Given the description of an element on the screen output the (x, y) to click on. 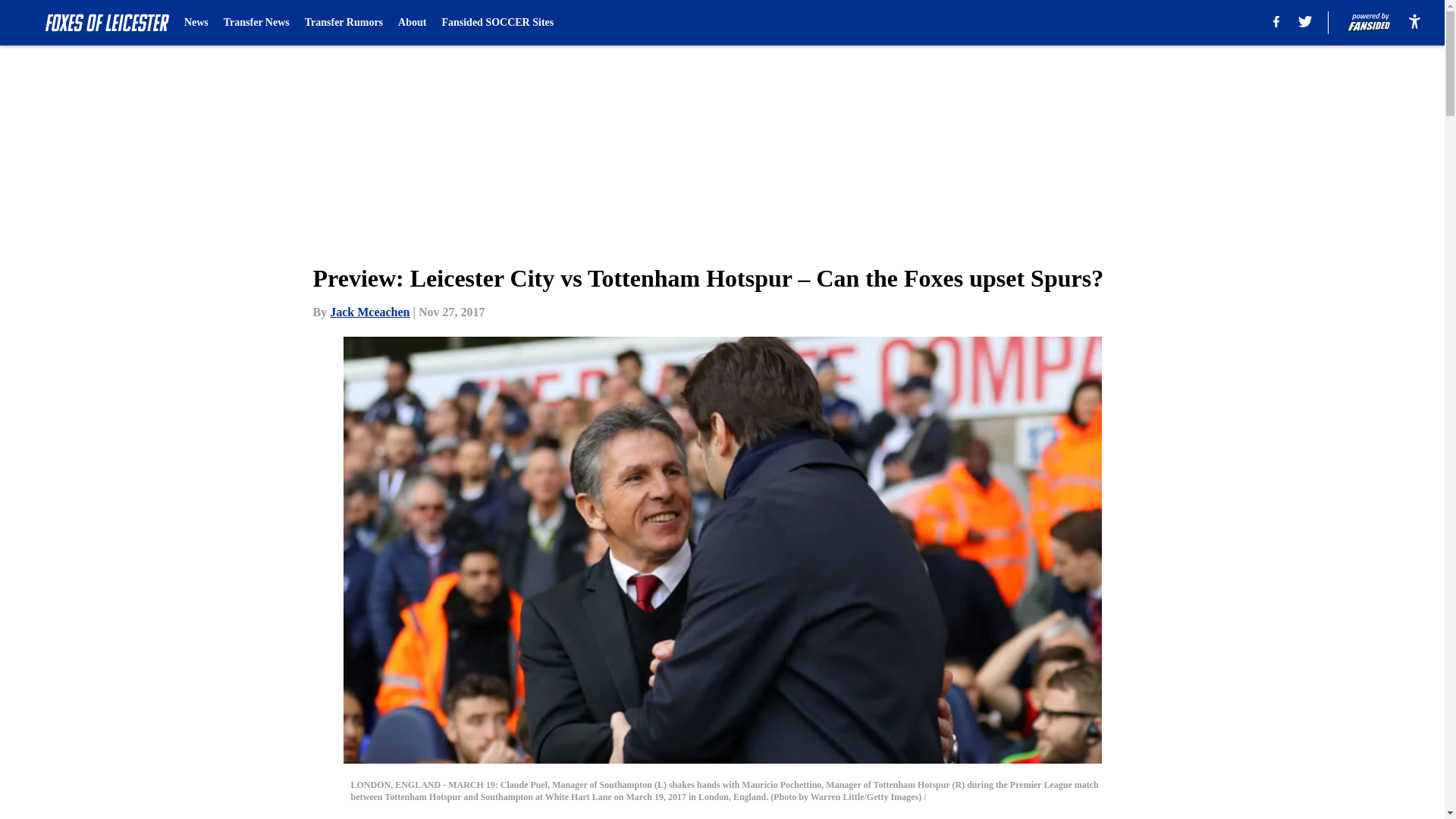
News (196, 22)
Jack Mceachen (369, 311)
Transfer Rumors (343, 22)
Fansided SOCCER Sites (497, 22)
Transfer News (256, 22)
About (411, 22)
